Given the description of an element on the screen output the (x, y) to click on. 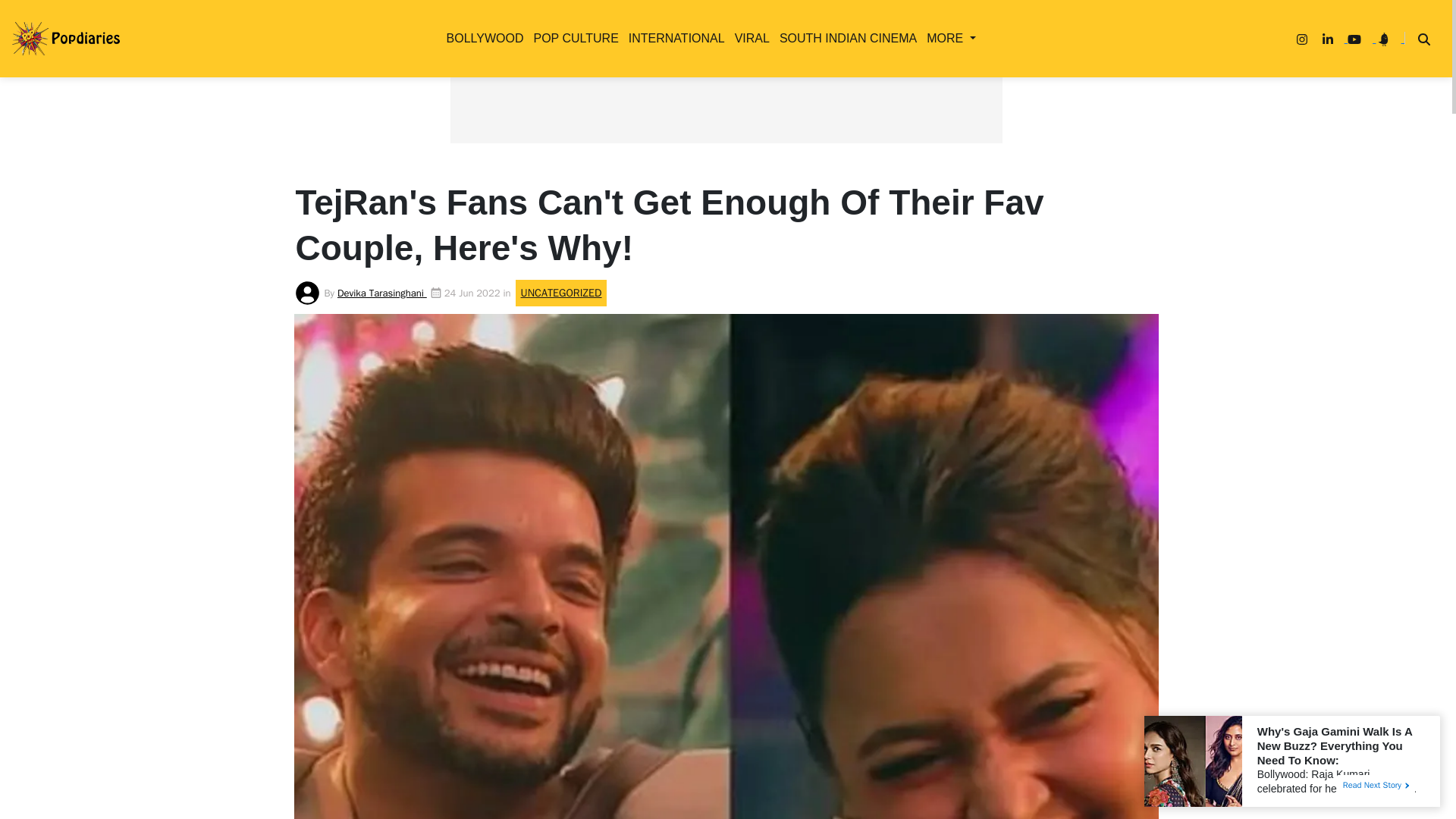
INTERNATIONAL (674, 38)
SOUTH INDIAN CINEMA (845, 38)
UNCATEGORIZED (430, 225)
Devika Tarasinghani (381, 292)
BOLLYWOOD (482, 38)
MORE (947, 38)
POP CULTURE (572, 38)
VIRAL (749, 38)
